Given the description of an element on the screen output the (x, y) to click on. 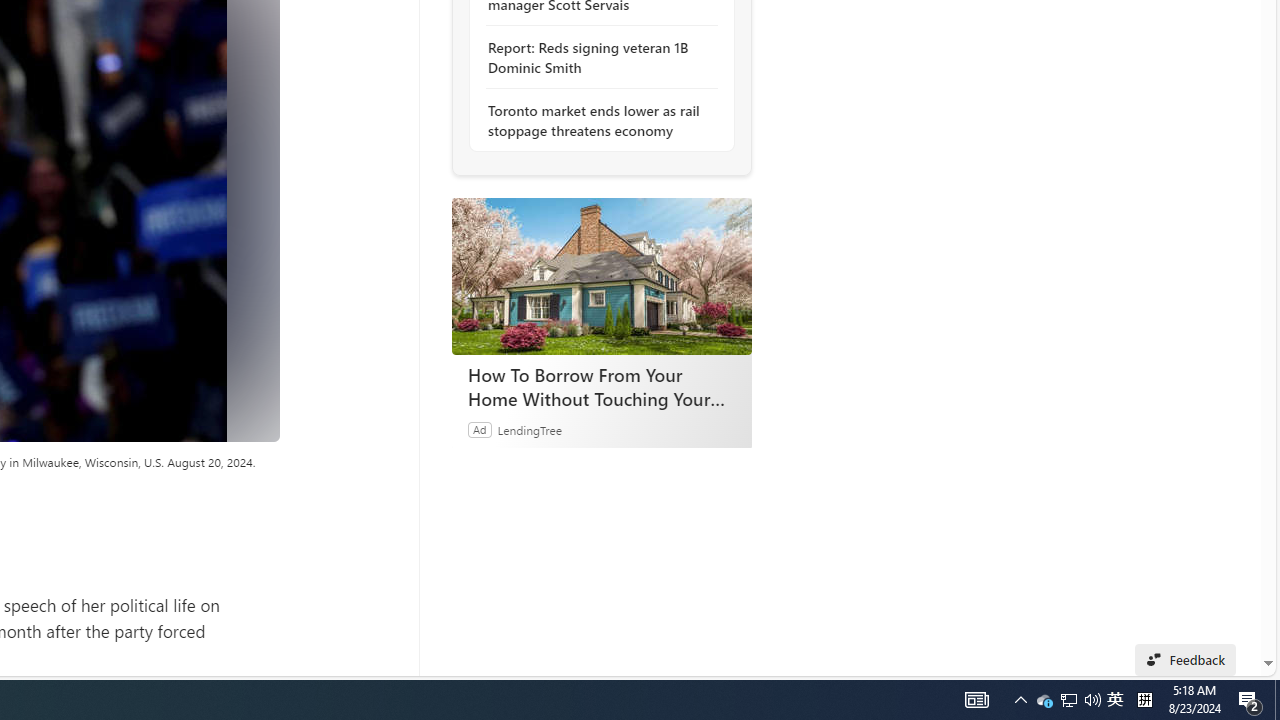
Tray Input Indicator - Chinese (Simplified, China) (1144, 699)
Action Center, 2 new notifications (1115, 699)
